Given the description of an element on the screen output the (x, y) to click on. 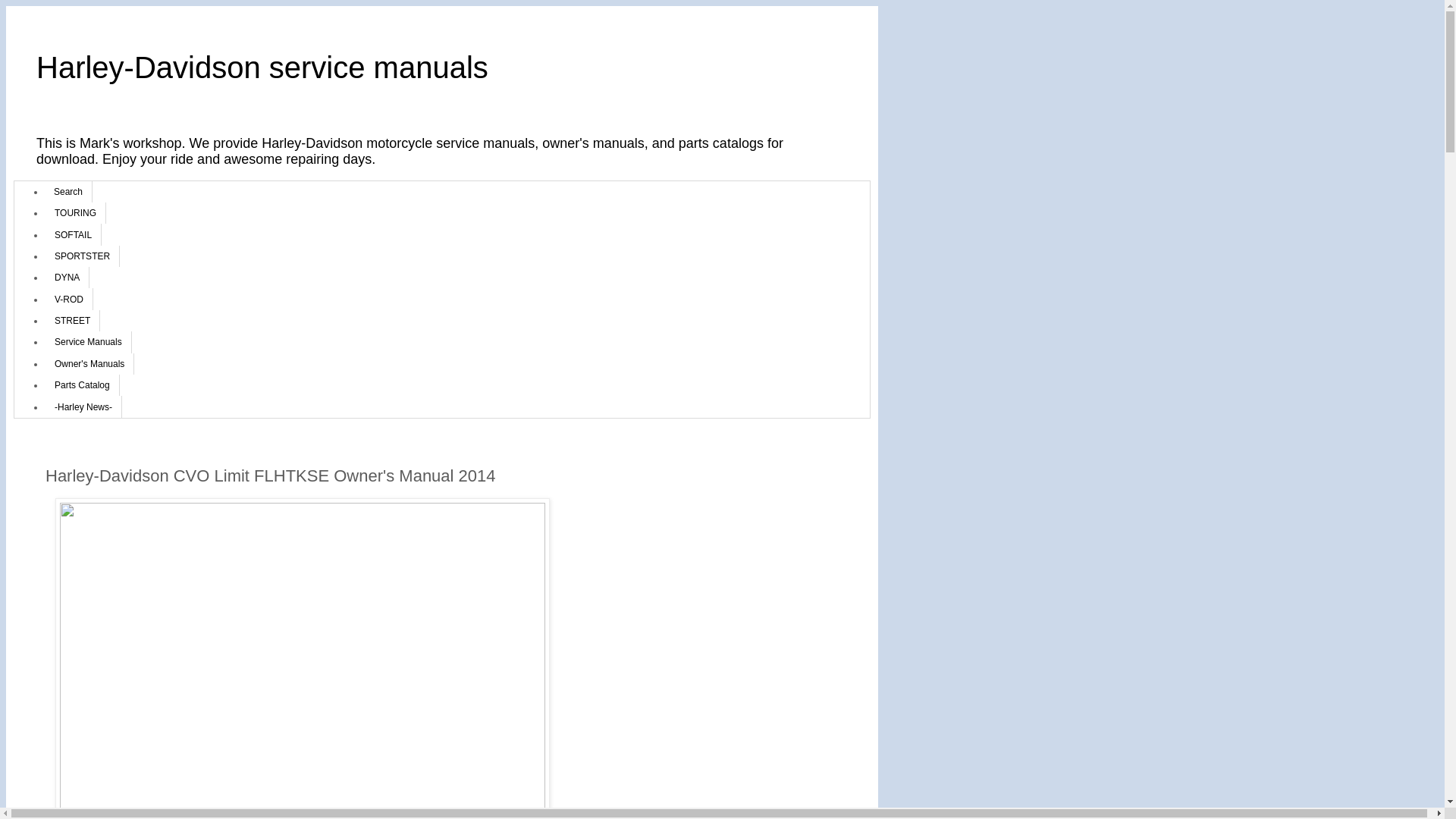
SPORTSTER Element type: text (81, 255)
Service Manuals Element type: text (87, 341)
Owner's Manuals Element type: text (89, 363)
Search Element type: text (68, 191)
Parts Catalog Element type: text (81, 384)
DYNA Element type: text (66, 277)
Harley-Davidson service manuals Element type: text (262, 67)
-Harley News- Element type: text (83, 406)
TOURING Element type: text (75, 212)
STREET Element type: text (72, 320)
SOFTAIL Element type: text (72, 233)
V-ROD Element type: text (68, 298)
